Given the description of an element on the screen output the (x, y) to click on. 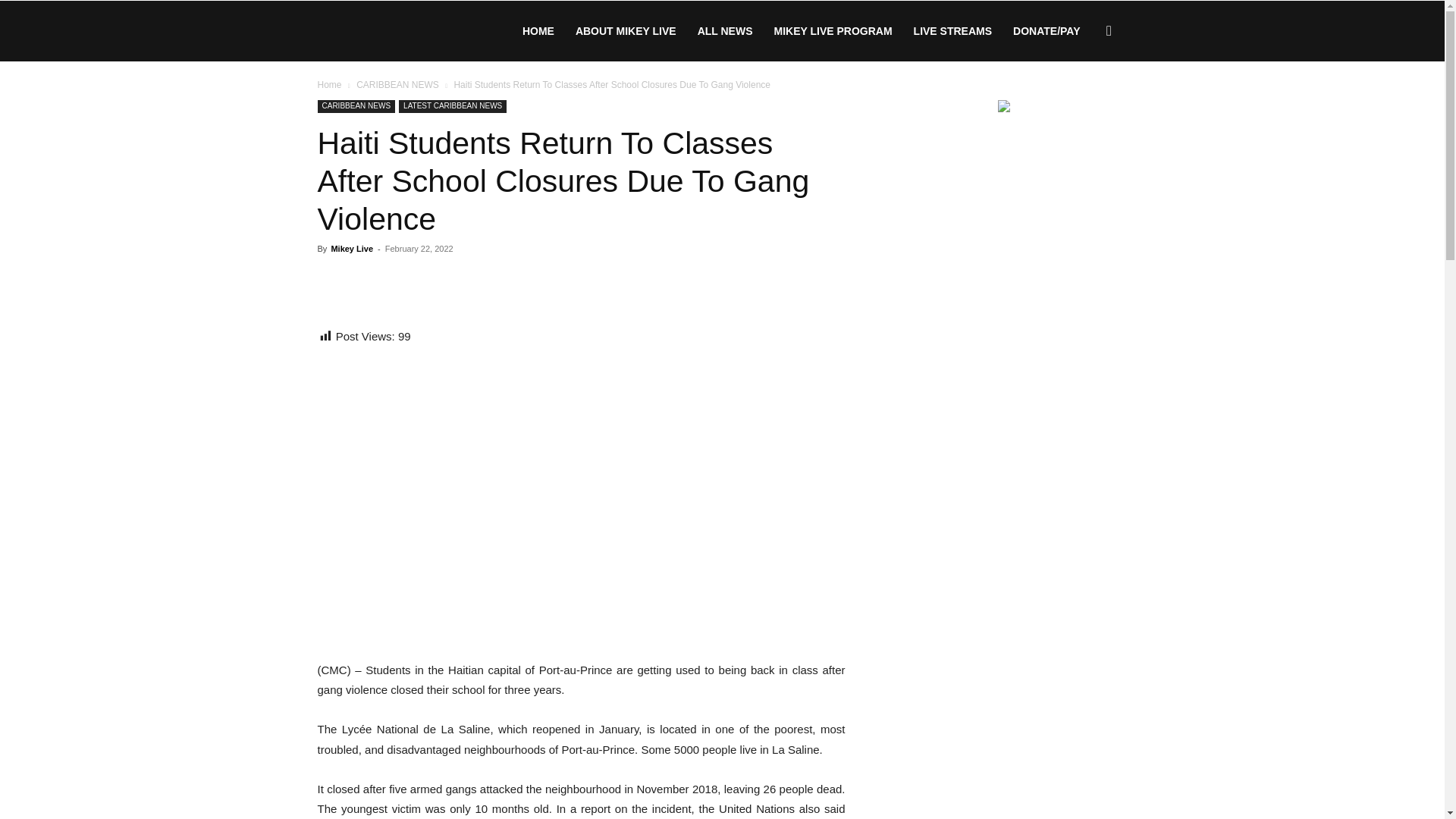
View all posts in CARIBBEAN NEWS (397, 84)
Home (328, 84)
ABOUT MIKEY LIVE (625, 30)
LIVE STREAMS (952, 30)
Search (1085, 103)
CARIBBEAN NEWS (397, 84)
CARIBBEAN NEWS (355, 106)
ALL NEWS (724, 30)
Mikey Live (351, 248)
MIKEY LIVE PROGRAM (832, 30)
